Given the description of an element on the screen output the (x, y) to click on. 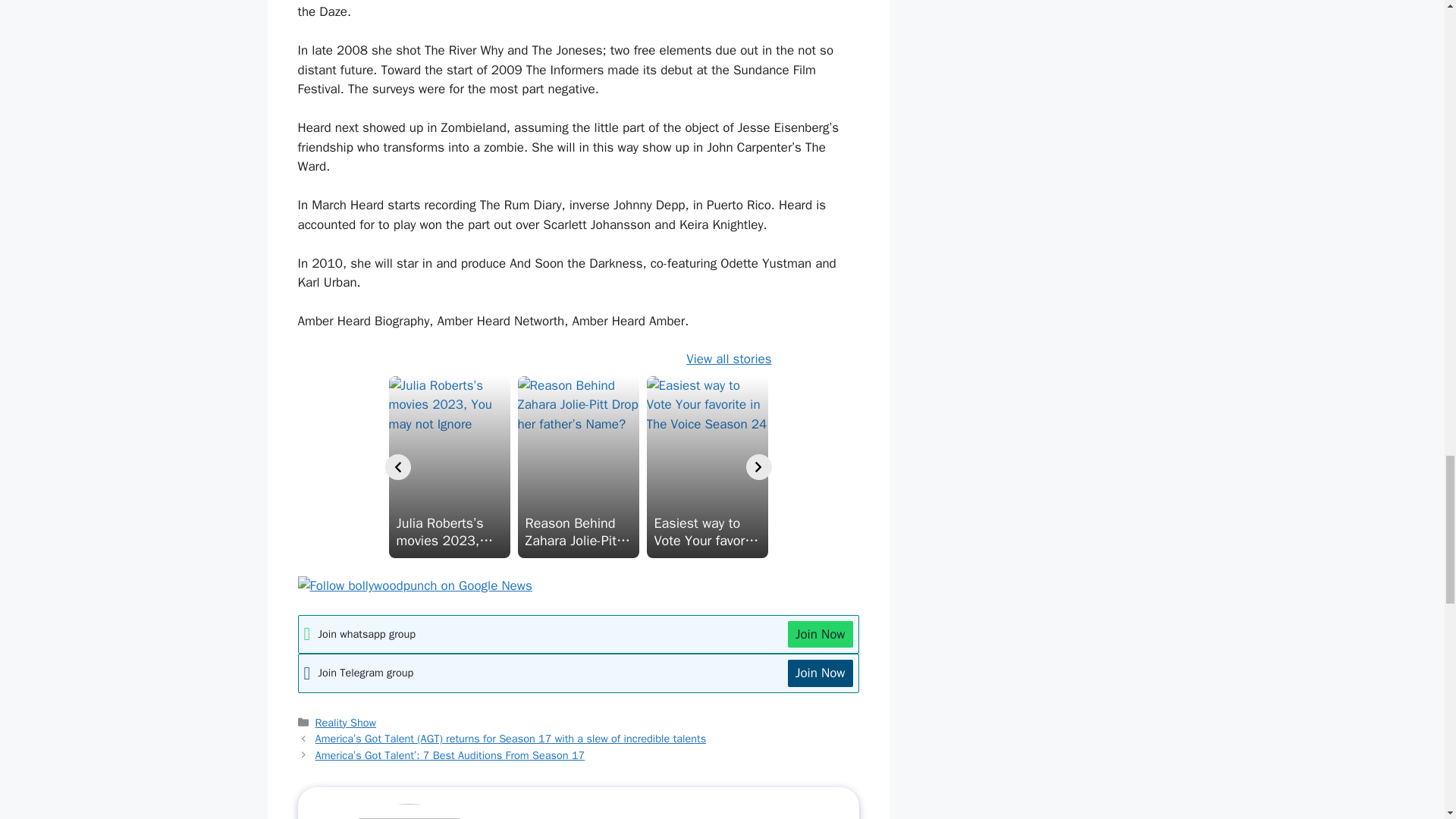
Join Now (820, 673)
Reality Show (345, 722)
Join Now (820, 634)
View all stories (728, 358)
